Given the description of an element on the screen output the (x, y) to click on. 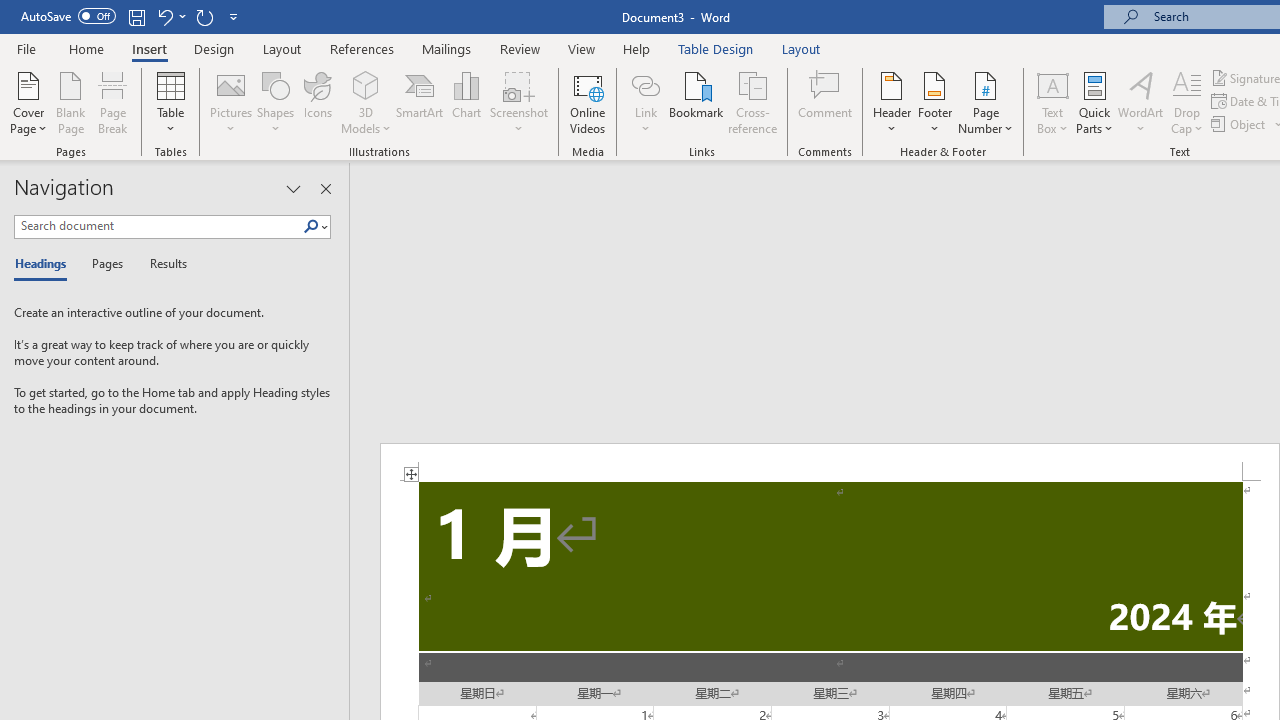
Drop Cap (1187, 102)
Cross-reference... (752, 102)
Online Videos... (588, 102)
Comment (825, 102)
Chart... (466, 102)
Page Break (113, 102)
Pictures (230, 102)
Footer (934, 102)
